Given the description of an element on the screen output the (x, y) to click on. 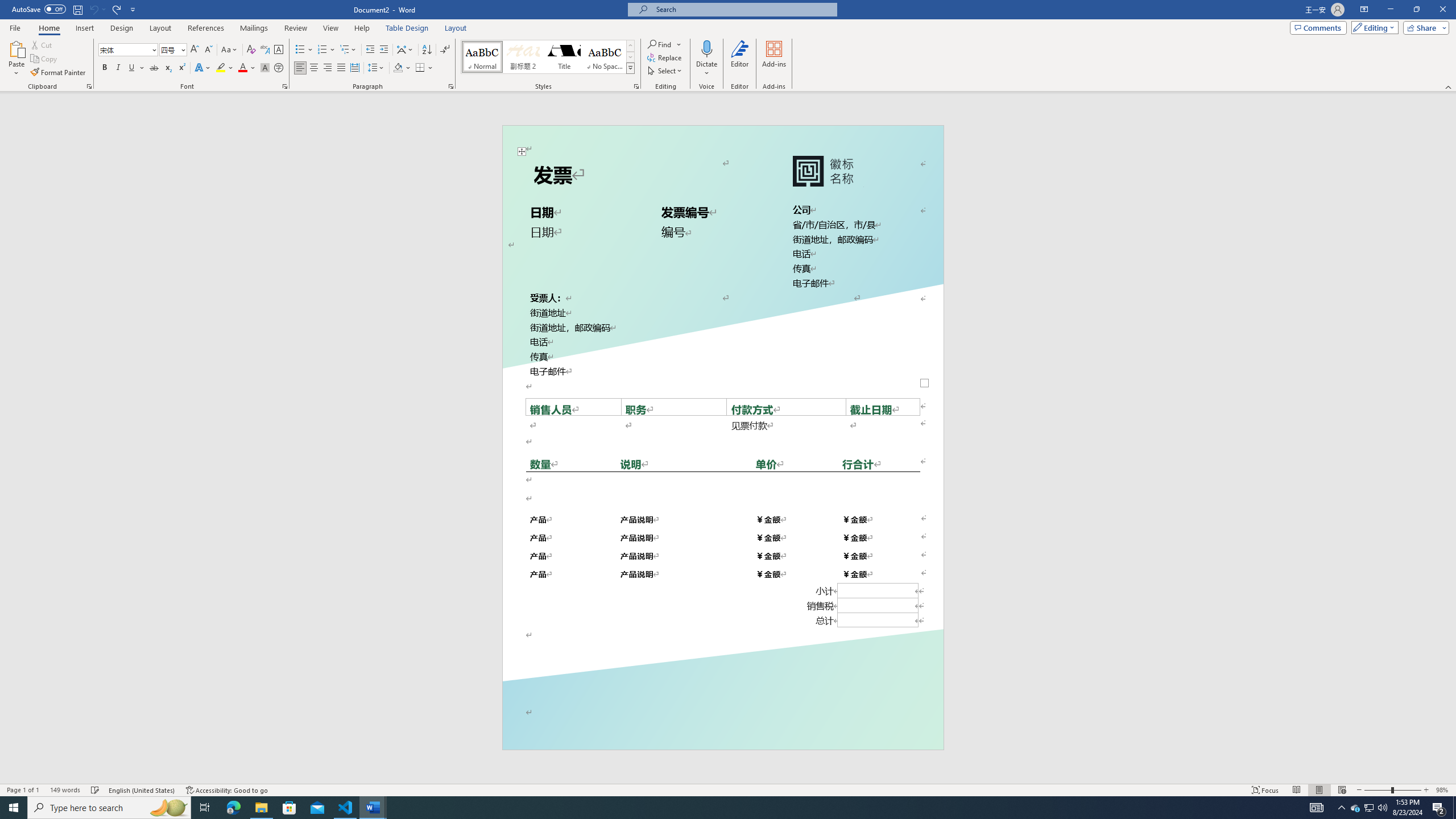
Redo Text Fill Effect (117, 9)
Can't Undo (92, 9)
